Given the description of an element on the screen output the (x, y) to click on. 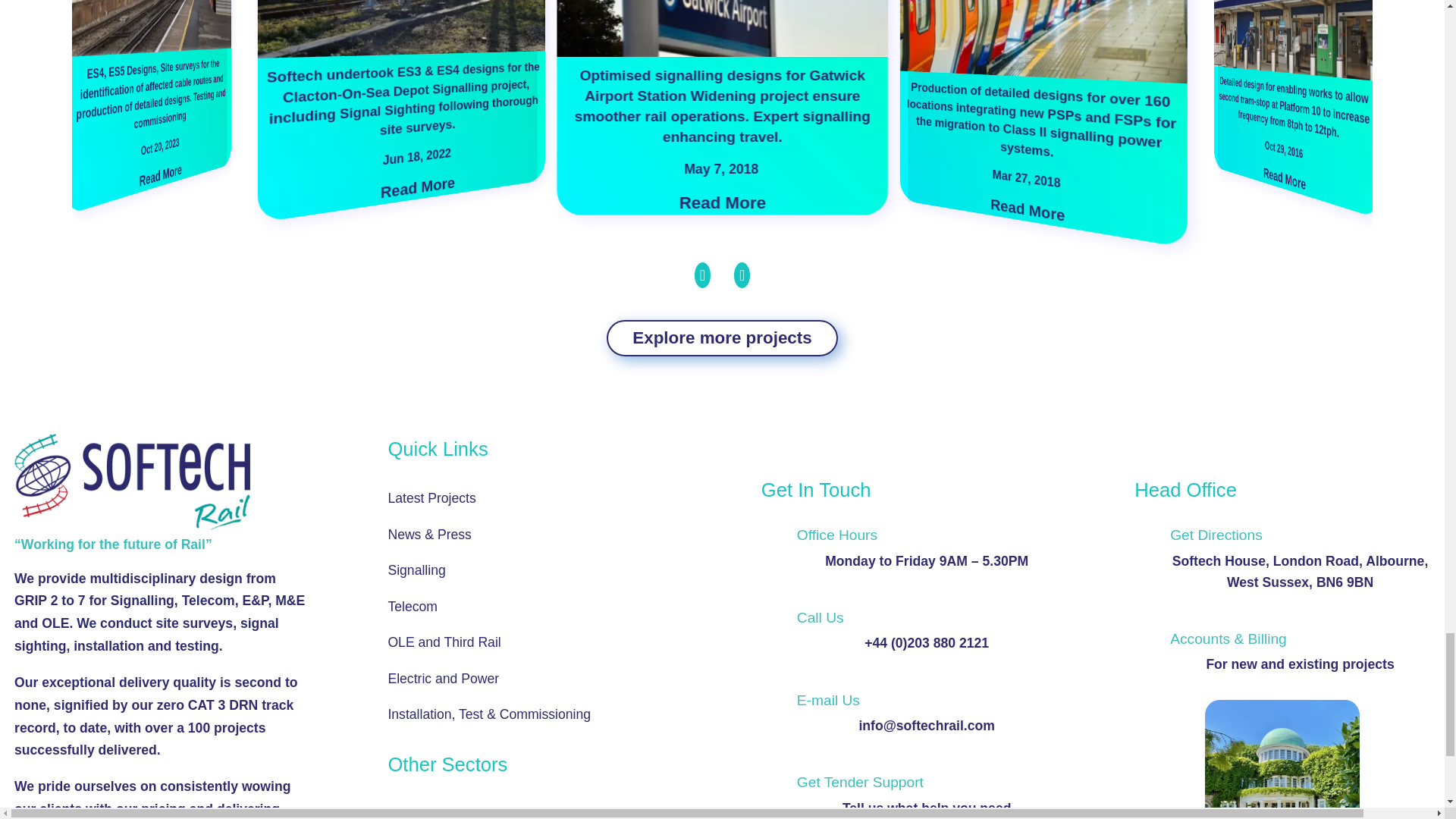
Softech House Hidden Gem Portrait (1282, 759)
Softech Rail Logo (132, 481)
